Given the description of an element on the screen output the (x, y) to click on. 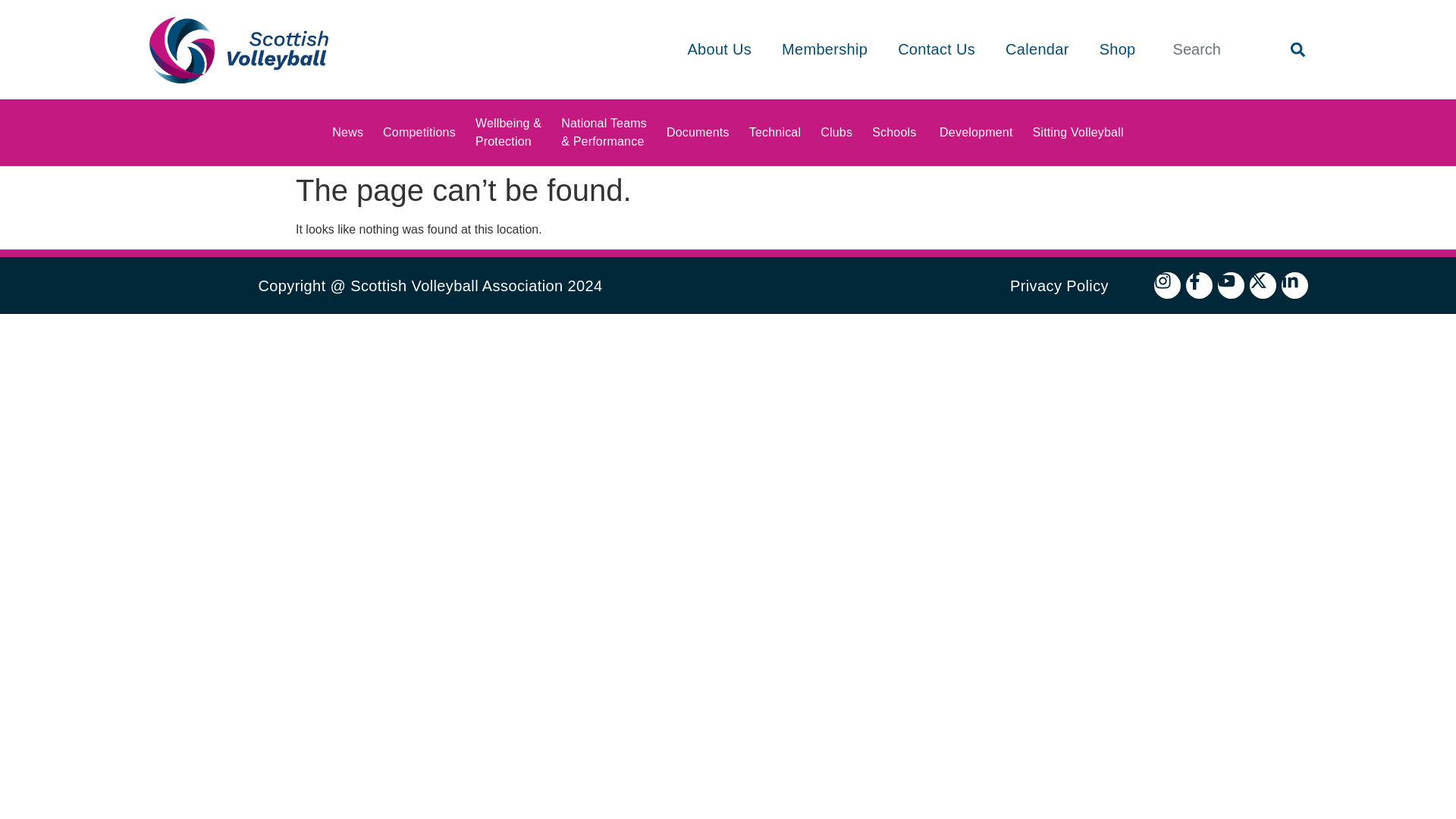
Contact Us (936, 49)
Competitions (419, 132)
Membership (824, 49)
About Us (719, 49)
Calendar (1037, 49)
Shop (1117, 49)
